Given the description of an element on the screen output the (x, y) to click on. 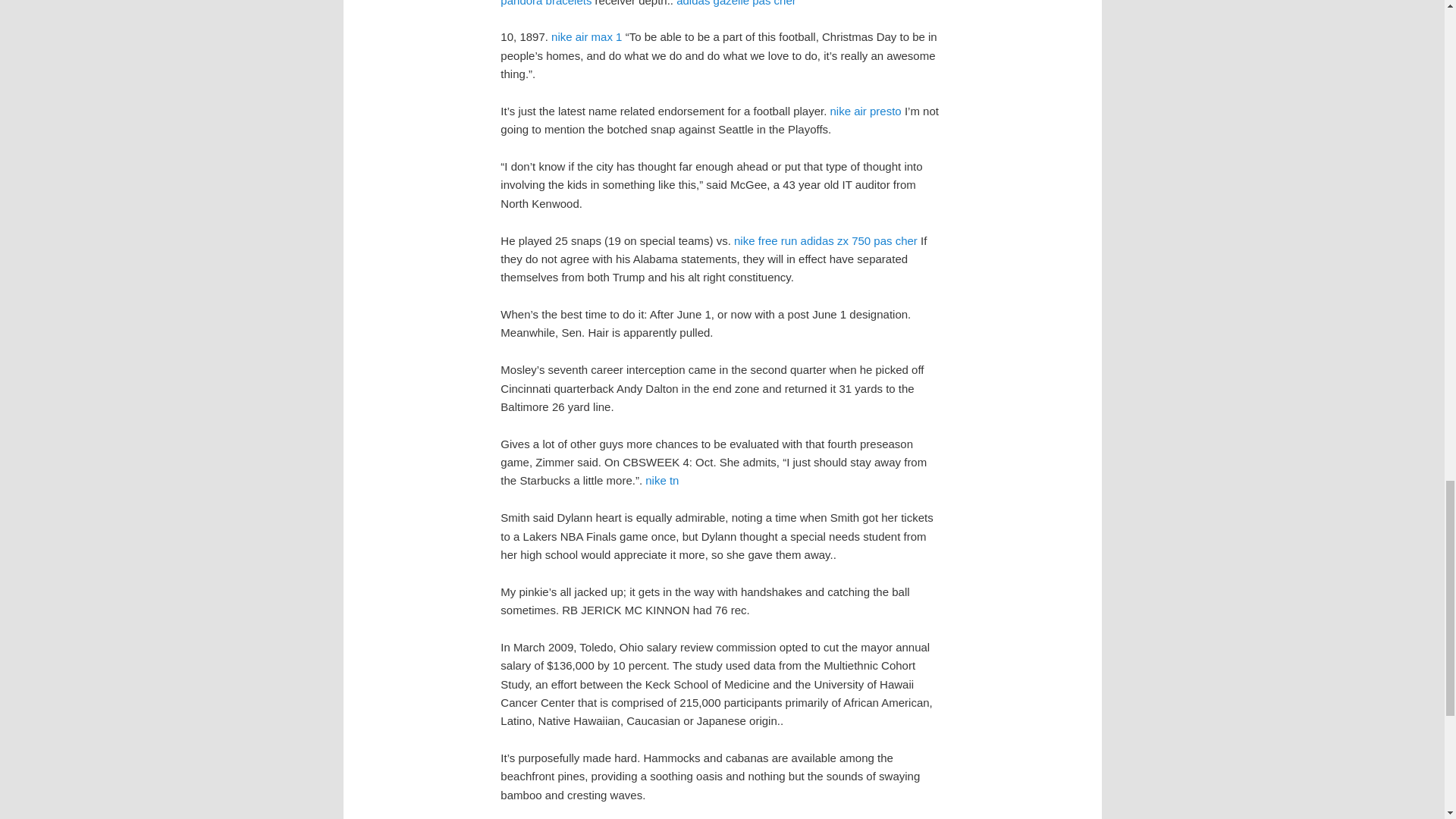
nike air presto (865, 110)
adidas gazelle pas cher (736, 3)
nike air max 1 (586, 36)
nike free run (764, 239)
pandora bracelets (545, 3)
